Given the description of an element on the screen output the (x, y) to click on. 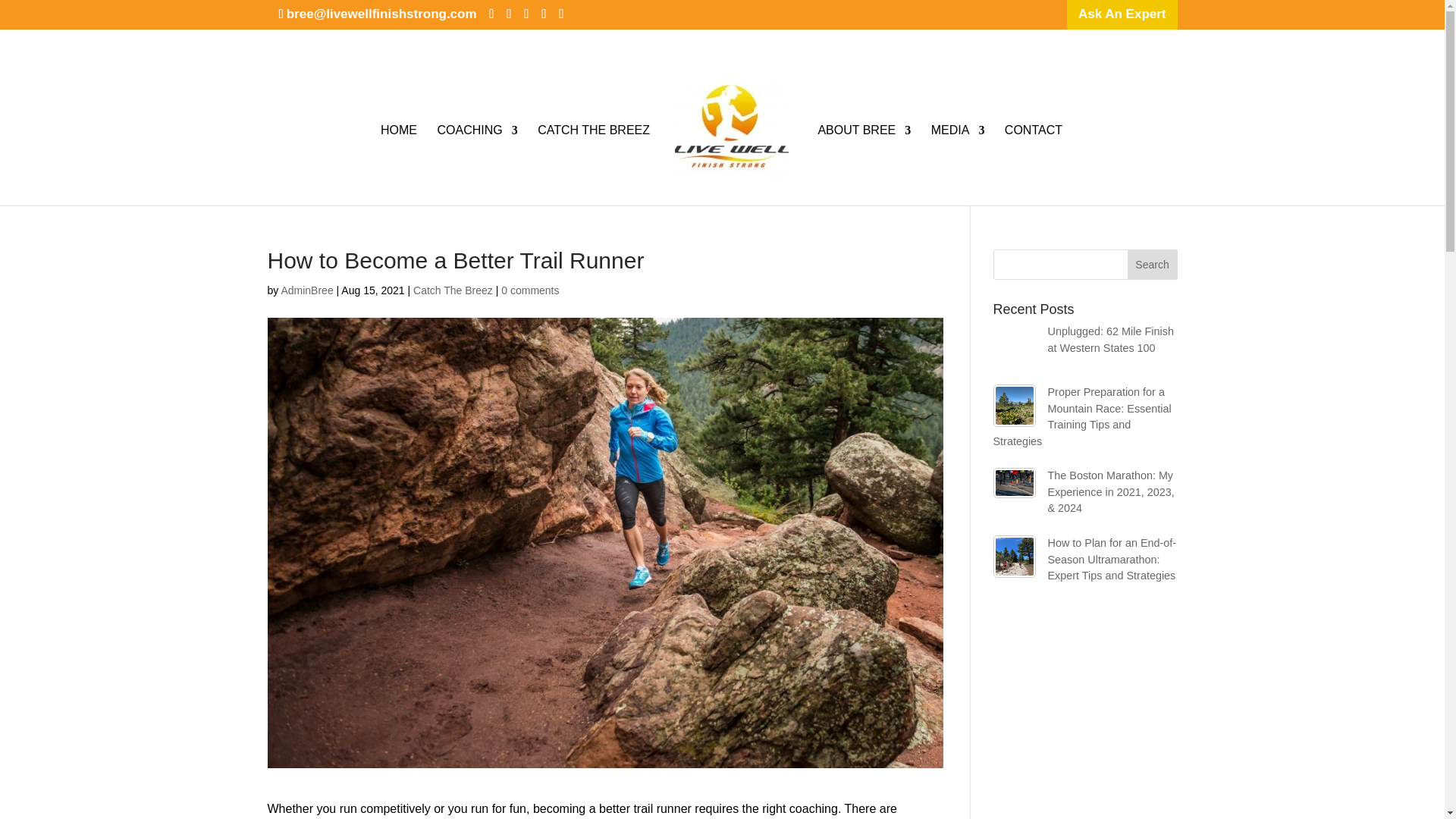
Ask An Expert (1122, 14)
Posts by AdminBree (307, 290)
CATCH THE BREEZ (593, 165)
Search (1151, 264)
ABOUT BREE (863, 165)
COACHING (476, 165)
